Given the description of an element on the screen output the (x, y) to click on. 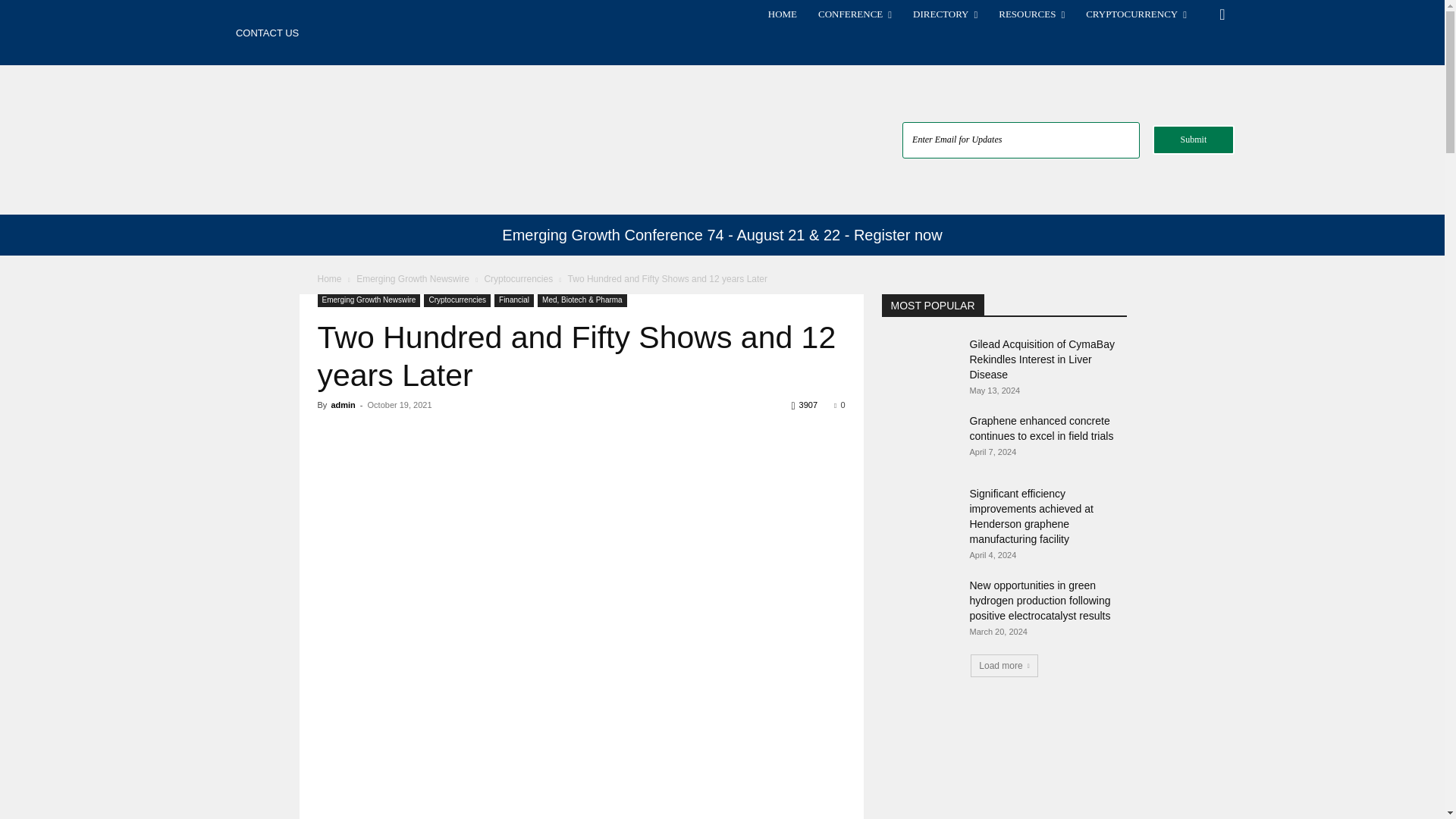
Contact Us (267, 32)
CONTACT US (267, 32)
View all posts in Emerging Growth Newswire (412, 278)
HOME (782, 14)
Submit (1193, 139)
